Given the description of an element on the screen output the (x, y) to click on. 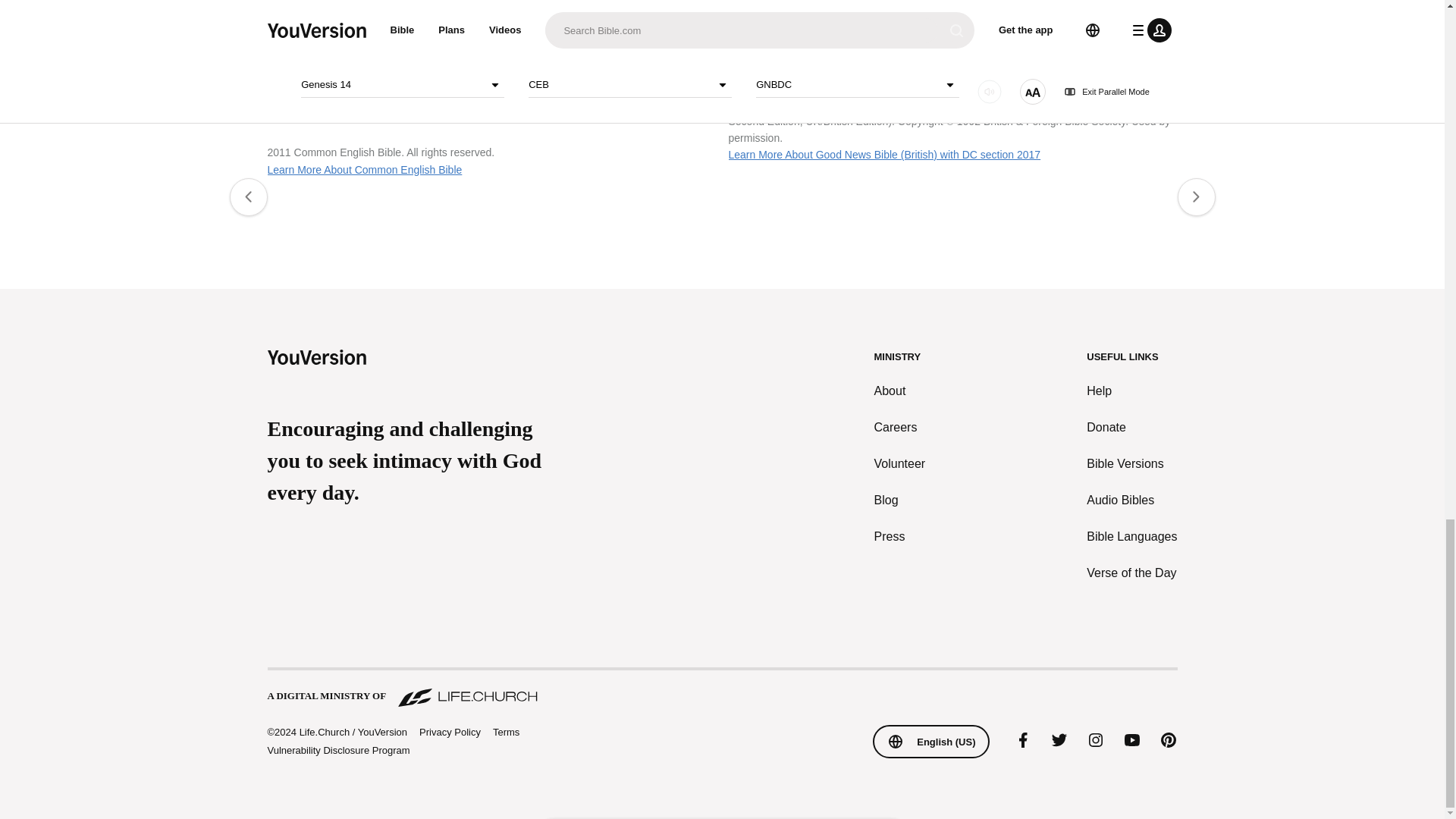
Verse of the Day (1131, 573)
A DIGITAL MINISTRY OF (721, 688)
Learn More About Common English Bible (363, 169)
Careers (900, 427)
Bible Languages (1131, 536)
Blog (900, 500)
Privacy Policy (449, 732)
Volunteer (900, 464)
Vulnerability Disclosure Program (337, 749)
Bible Versions (1131, 464)
